Given the description of an element on the screen output the (x, y) to click on. 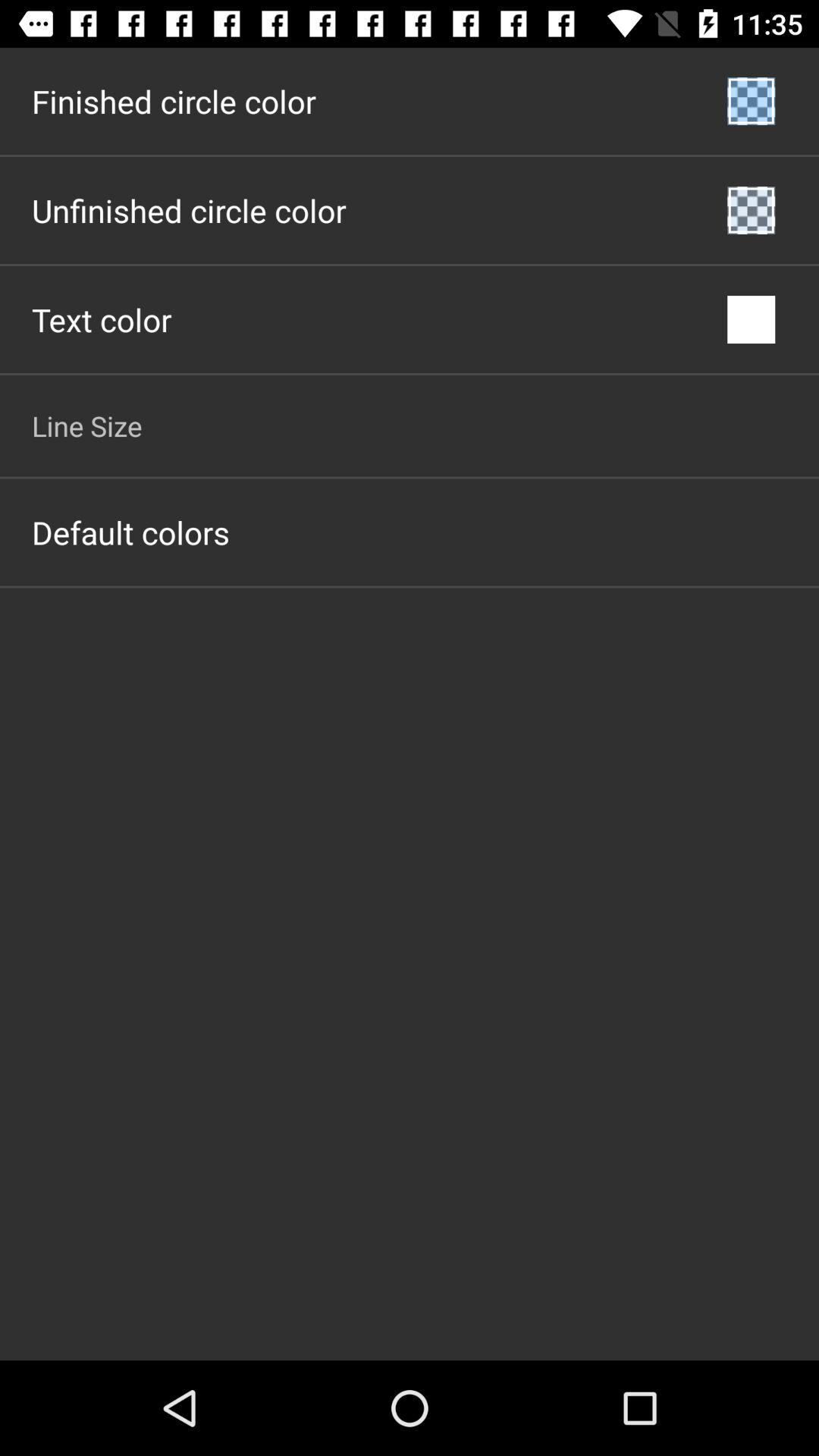
click the item next to unfinished circle color icon (751, 210)
